Given the description of an element on the screen output the (x, y) to click on. 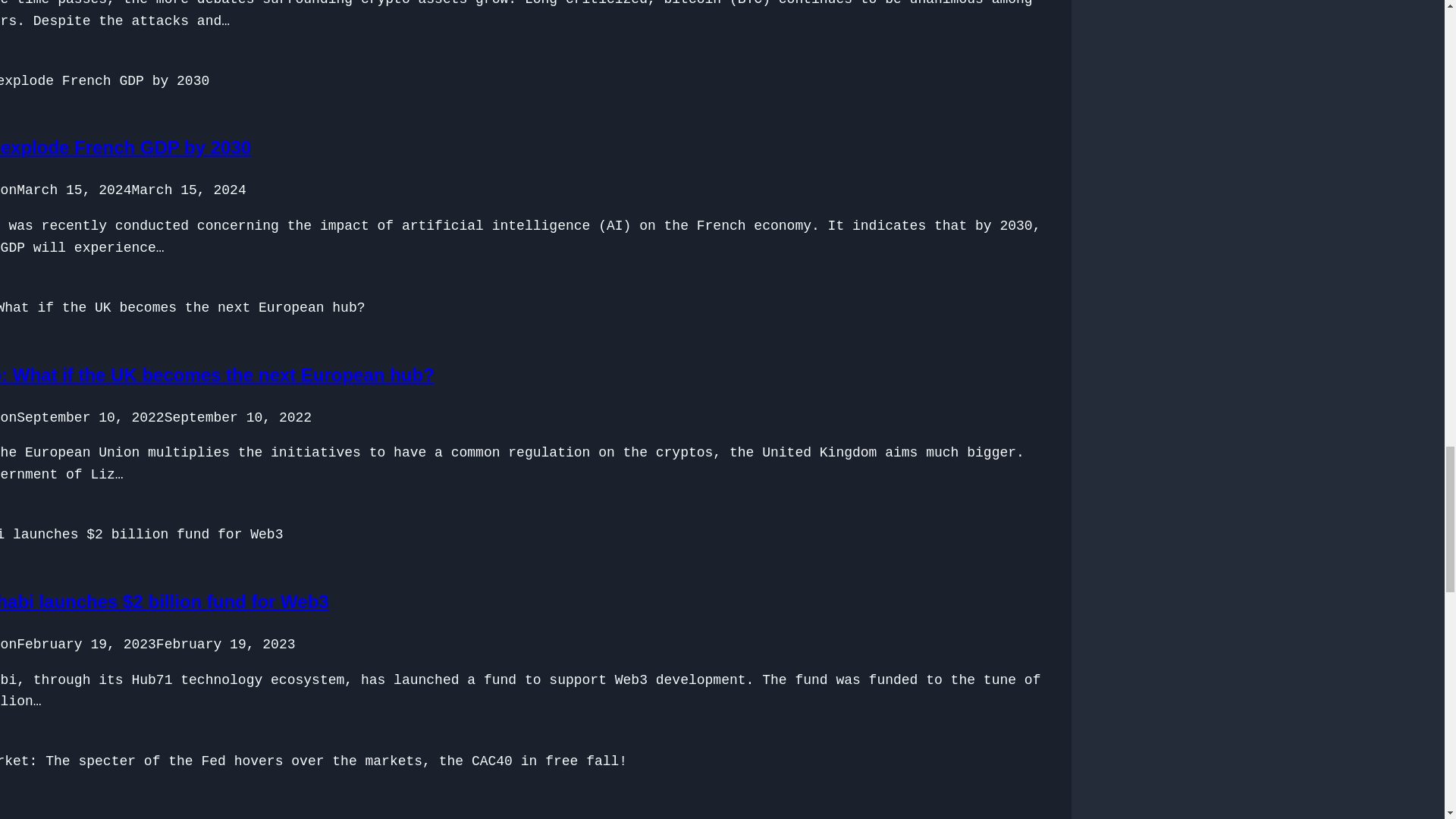
Crypto: What if the UK becomes the next European hub? (216, 374)
AI will explode French GDP by 2030 (125, 147)
